Given the description of an element on the screen output the (x, y) to click on. 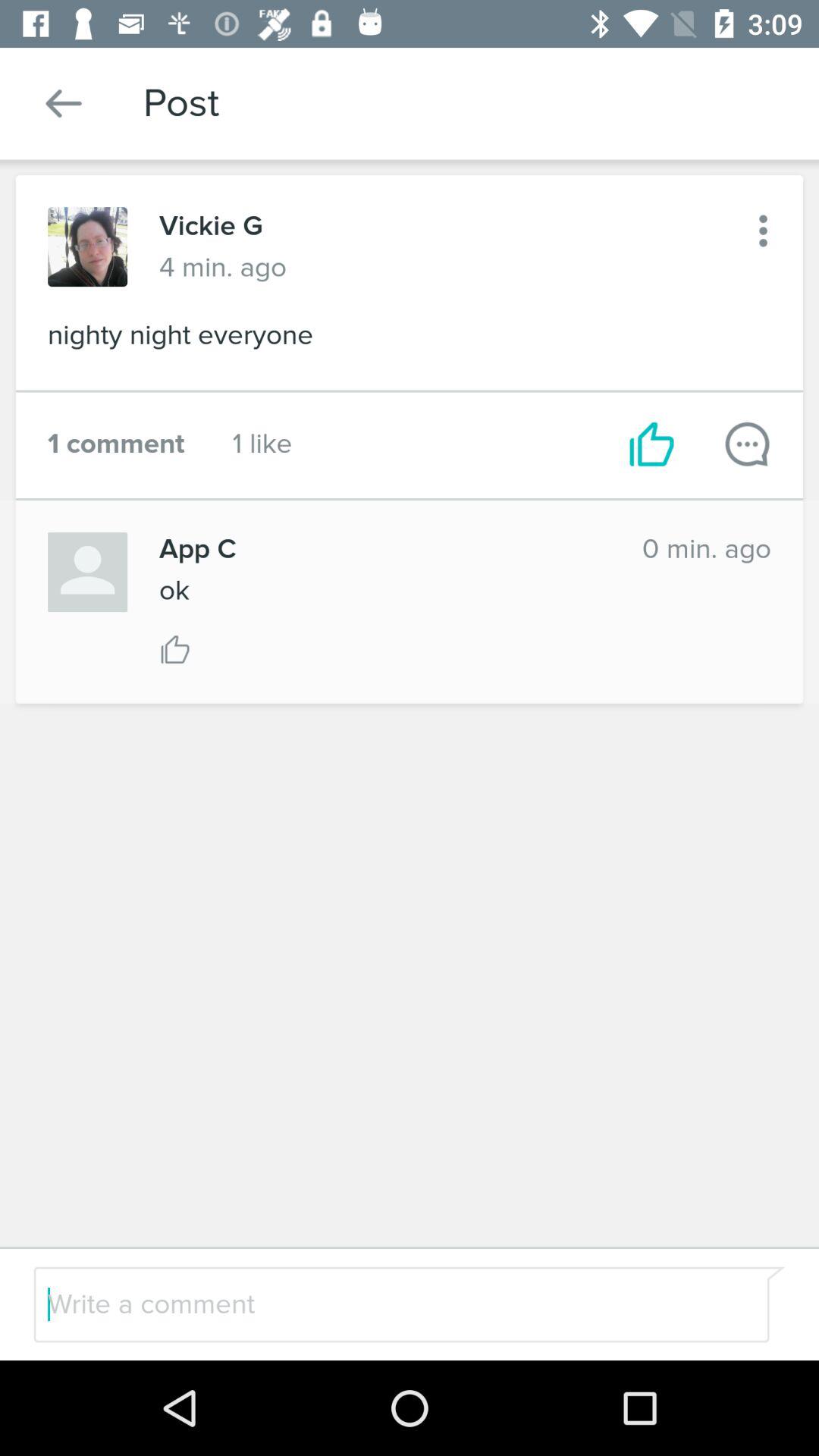
select the item above nighty night everyone item (763, 230)
